Given the description of an element on the screen output the (x, y) to click on. 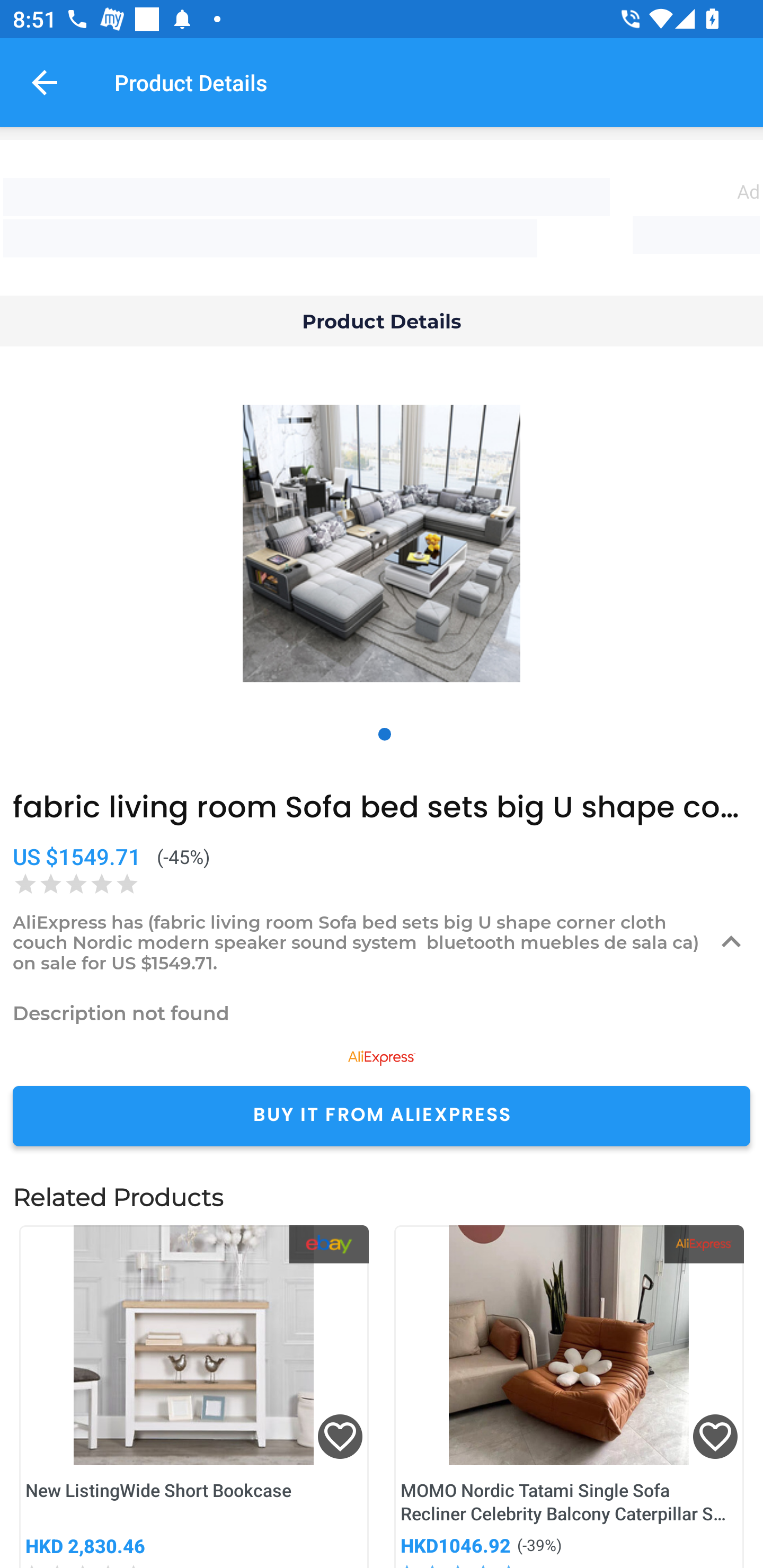
Navigate up (44, 82)
Description not found (381, 1012)
BUY IT FROM ALIEXPRESS (381, 1115)
New ListingWide Short Bookcase HKD 2,830.46 0.0 (193, 1396)
